Given the description of an element on the screen output the (x, y) to click on. 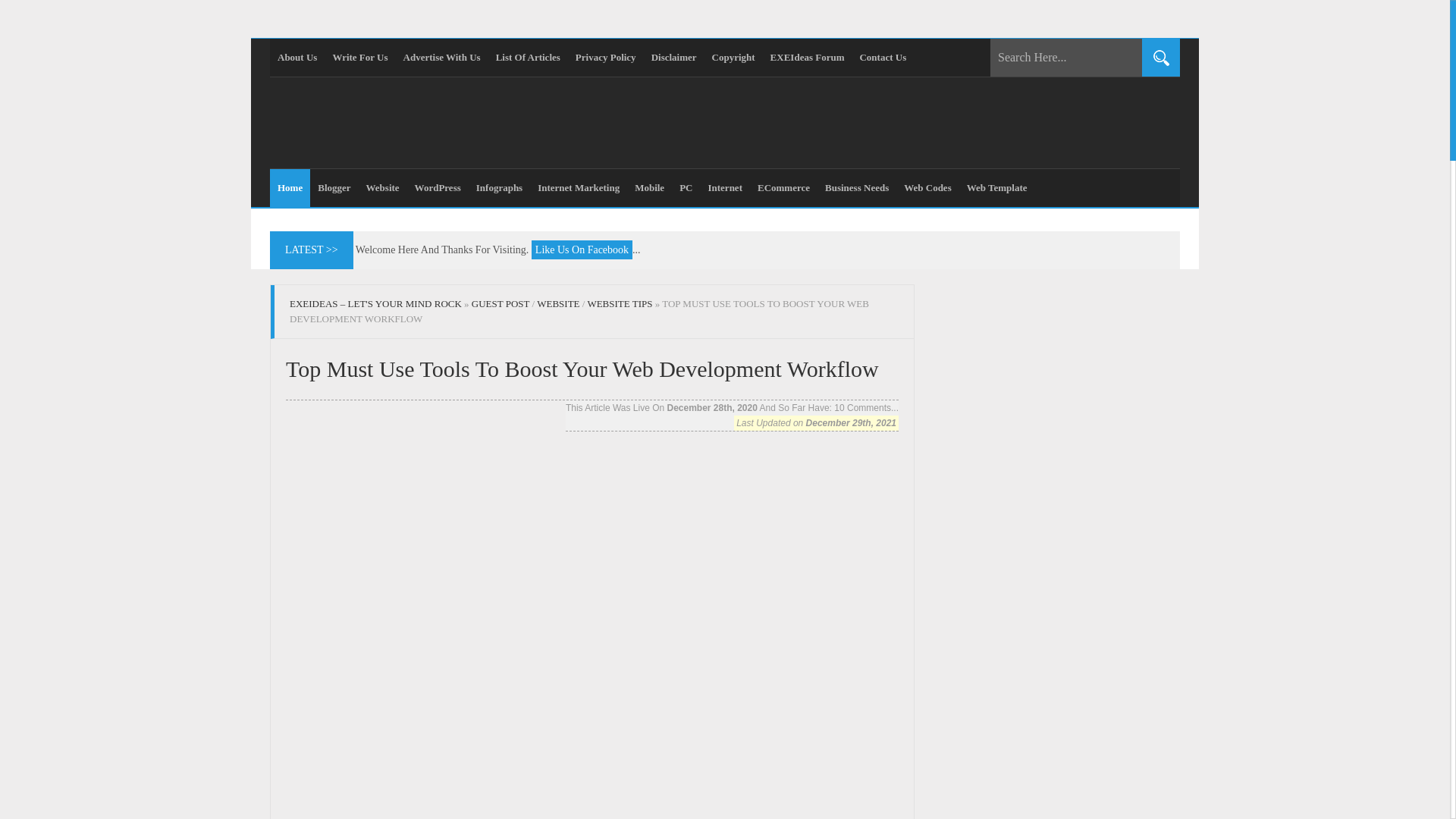
Copyright (733, 57)
Blogger (334, 187)
WEBSITE TIPS (619, 303)
Internet (724, 187)
EXEIdeas Forum (806, 57)
Home (289, 187)
About Us (296, 57)
Infographs (498, 187)
WordPress (437, 187)
Internet Marketing (578, 187)
